Given the description of an element on the screen output the (x, y) to click on. 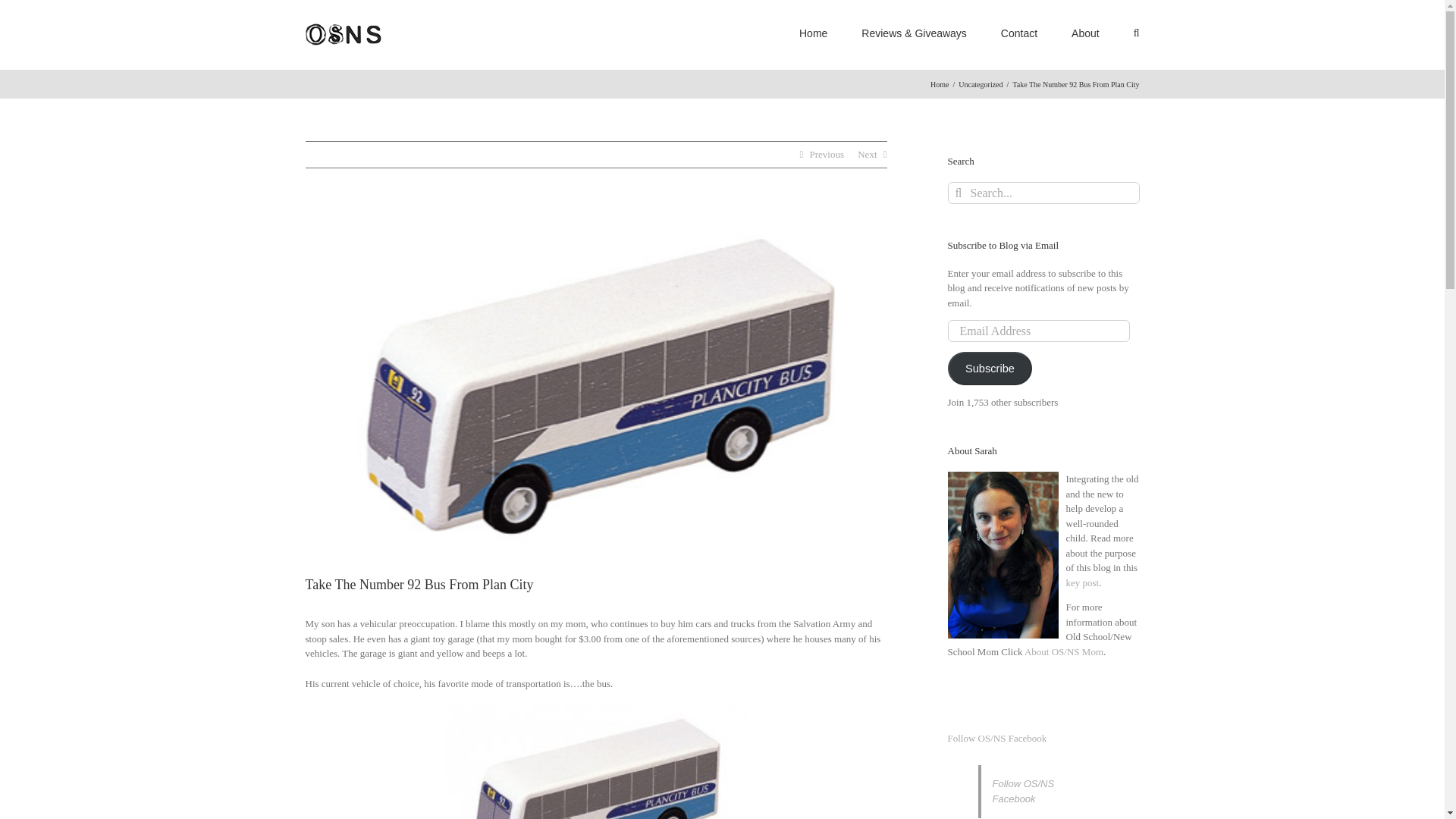
Uncategorized (980, 84)
Home (939, 84)
Previous (826, 154)
